Given the description of an element on the screen output the (x, y) to click on. 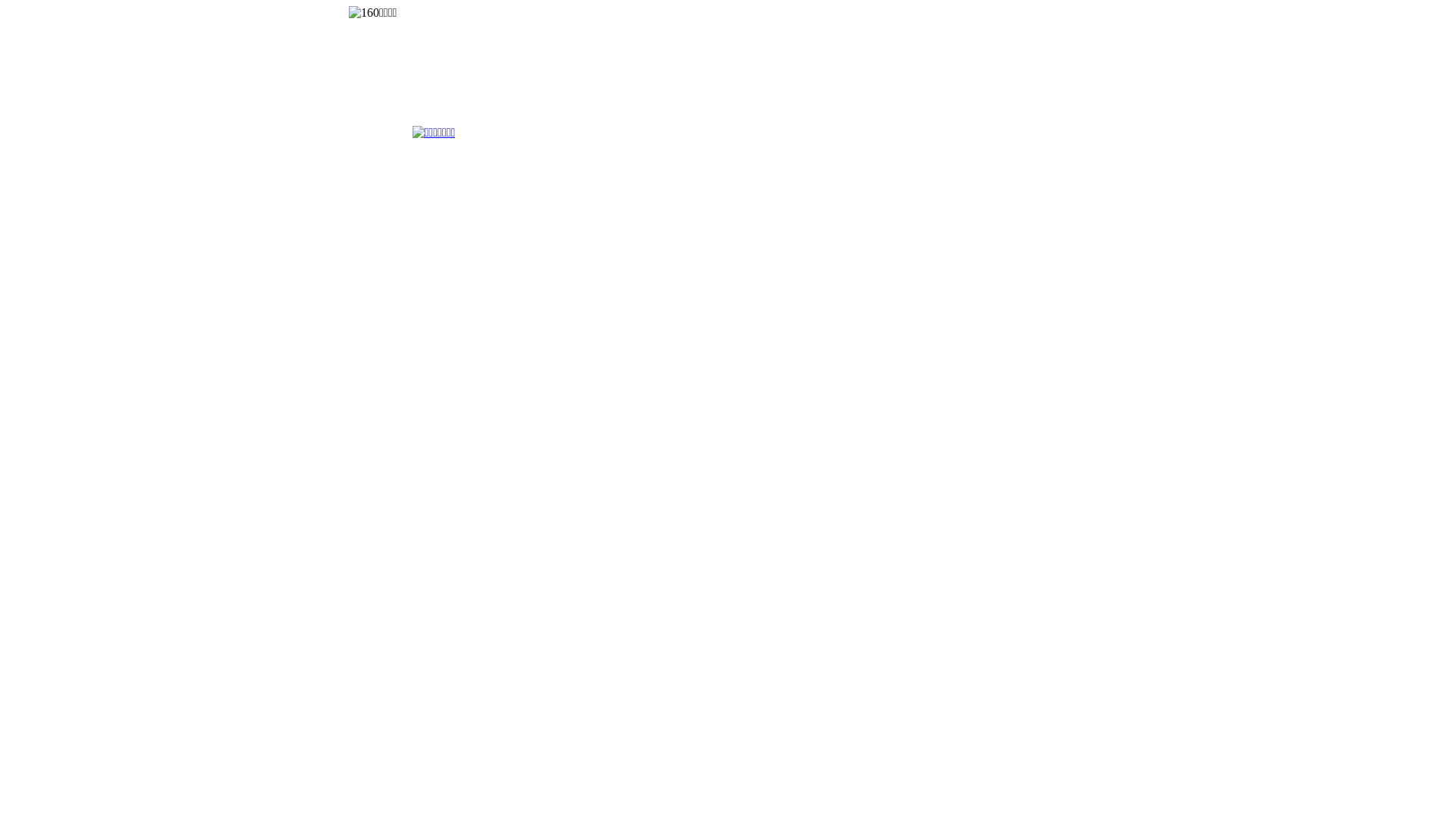
160YX Element type: hover (372, 12)
